Given the description of an element on the screen output the (x, y) to click on. 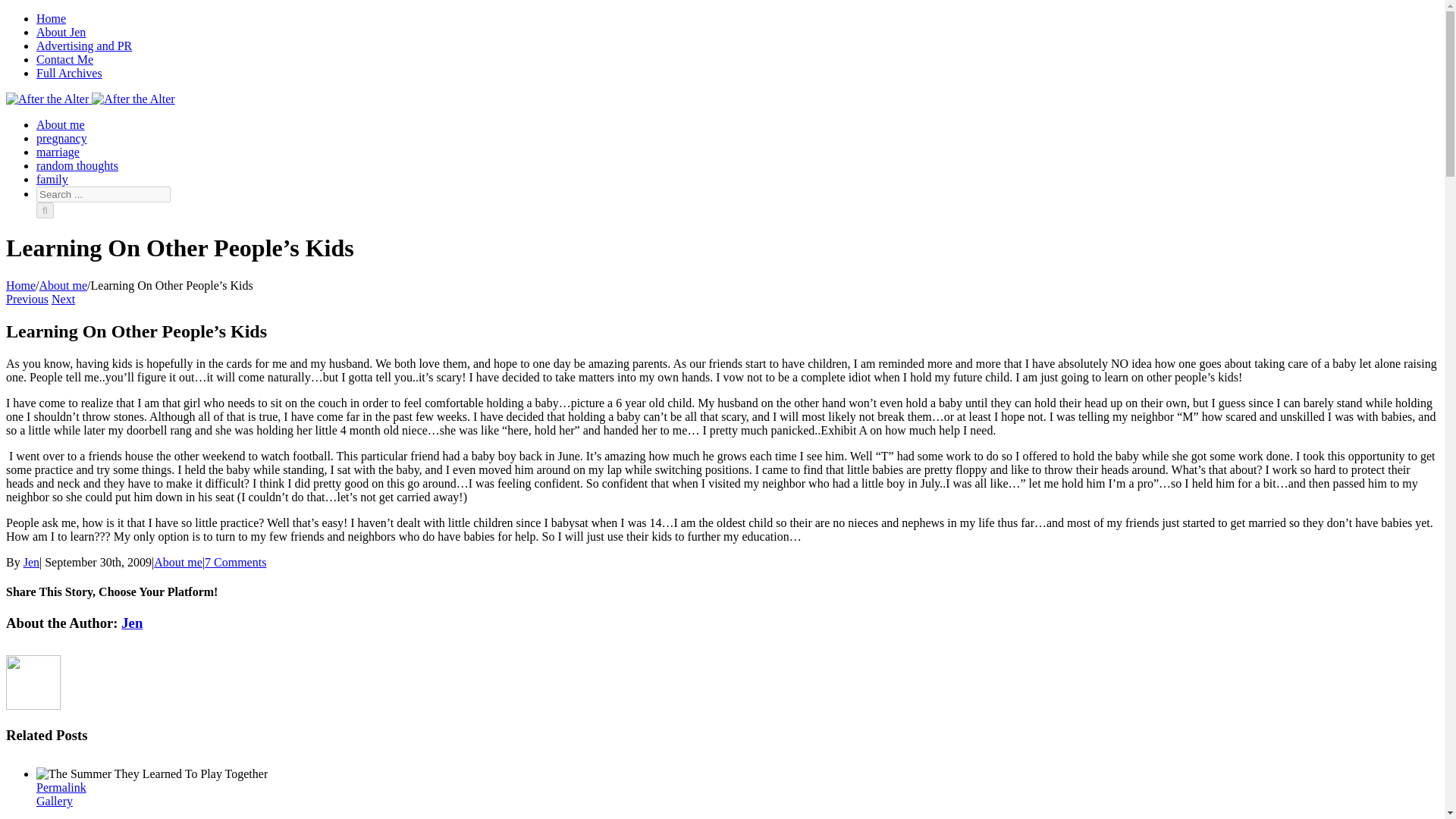
Posts by Jen (131, 622)
marriage (58, 151)
Permalink (60, 787)
7 Comments (235, 562)
Gallery (54, 800)
pregnancy (61, 137)
About me (178, 562)
Contact Me (64, 59)
Home (50, 18)
Posts by Jen (31, 562)
